Given the description of an element on the screen output the (x, y) to click on. 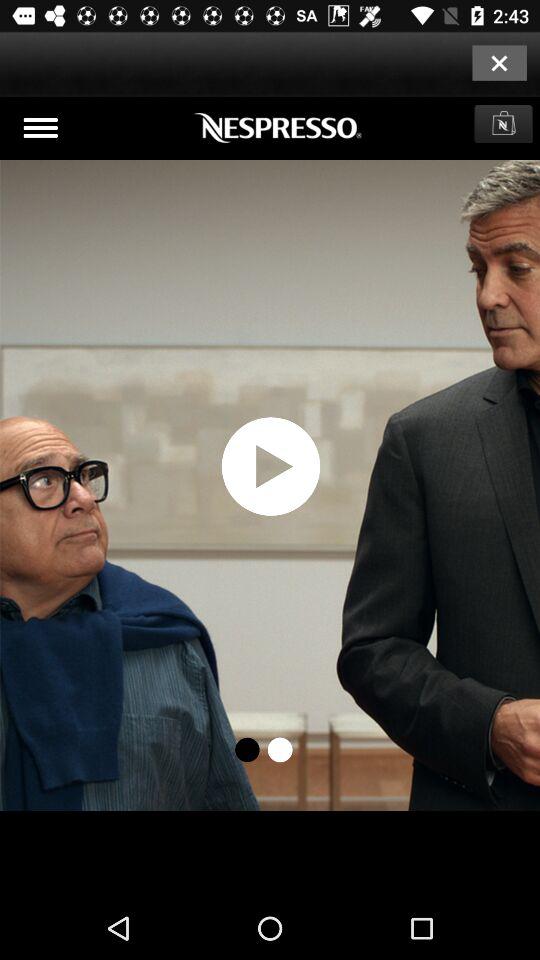
video (270, 497)
